Given the description of an element on the screen output the (x, y) to click on. 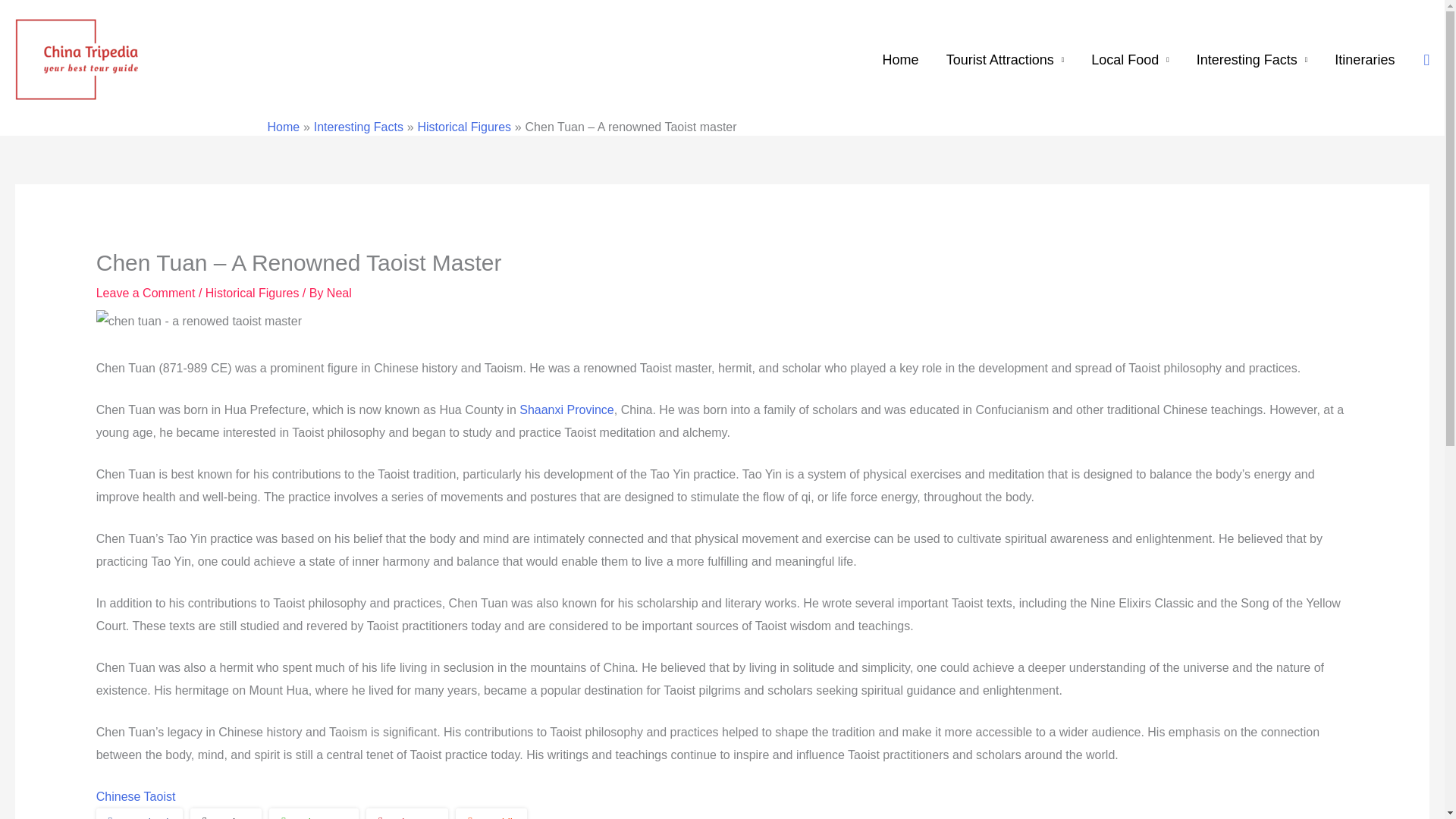
Home (901, 59)
Tourist Attractions (1005, 59)
View all posts by Neal (339, 292)
